Given the description of an element on the screen output the (x, y) to click on. 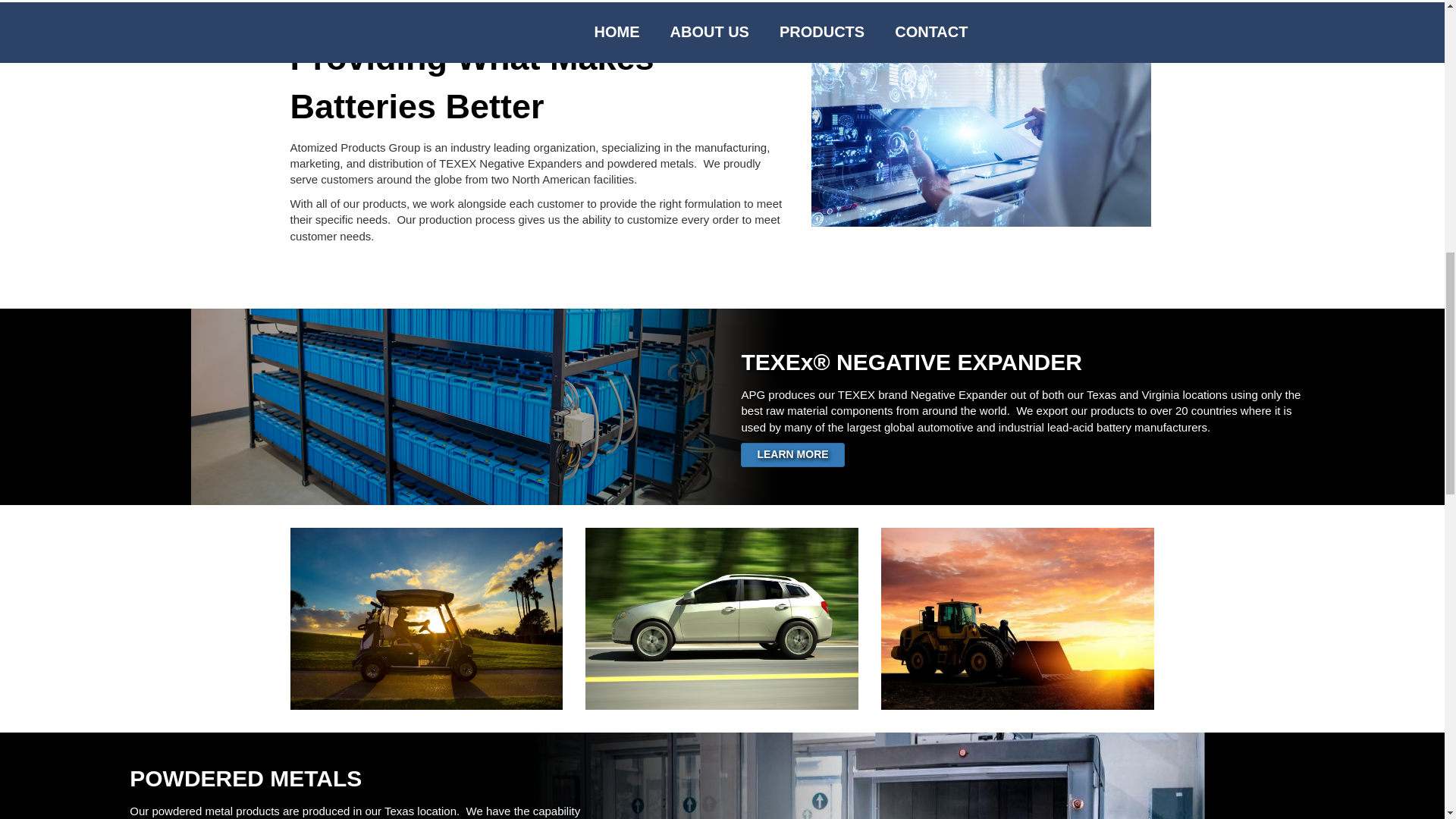
CONTACT (946, 31)
PRODUCTS (836, 31)
HOME (631, 31)
LEARN MORE (792, 453)
ABOUT US (723, 31)
